Given the description of an element on the screen output the (x, y) to click on. 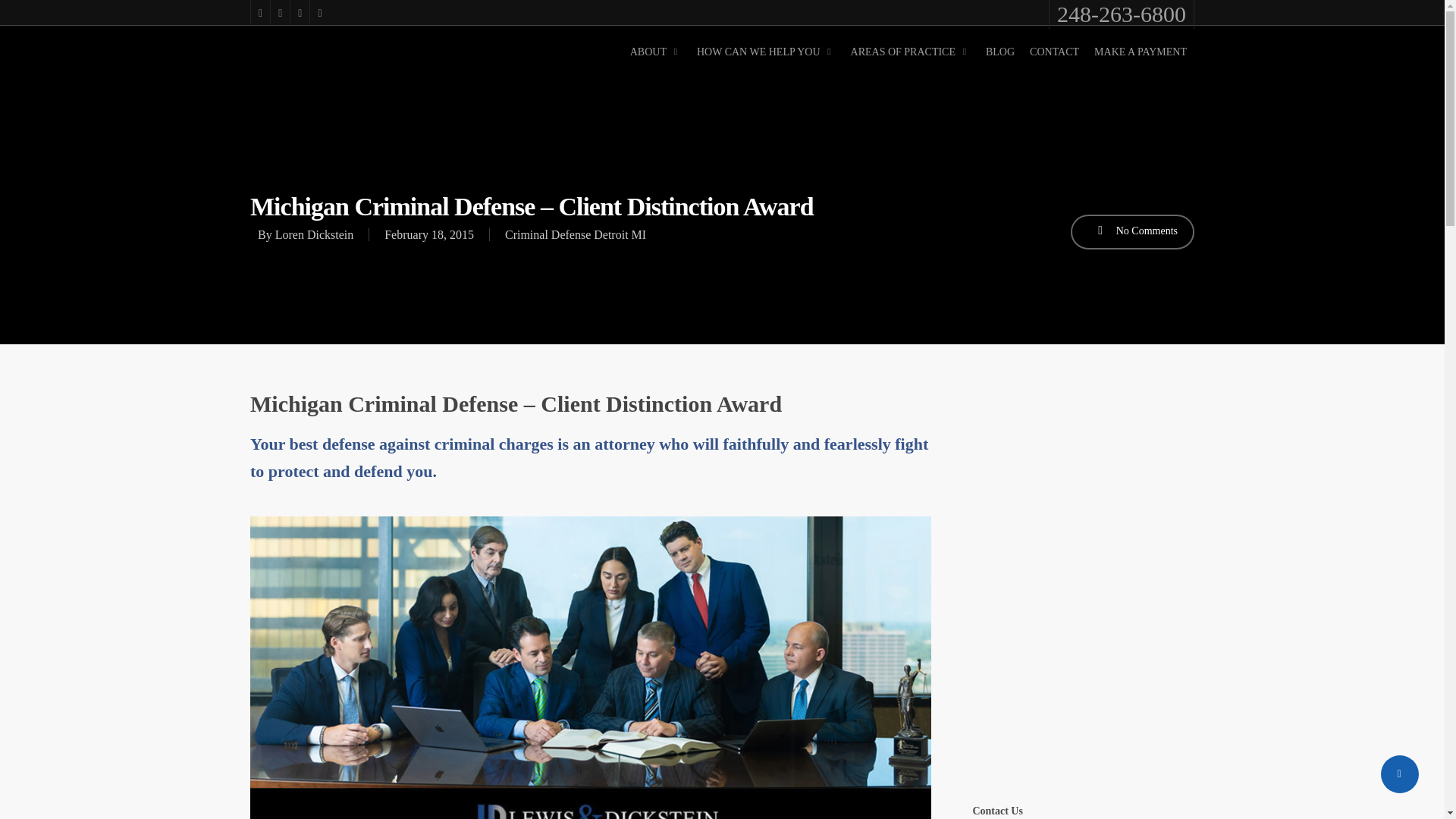
AREAS OF PRACTICE (910, 51)
ABOUT (655, 51)
248-263-6800 (1120, 14)
Posts by Loren Dickstein (314, 234)
HOW CAN WE HELP YOU (765, 51)
